Given the description of an element on the screen output the (x, y) to click on. 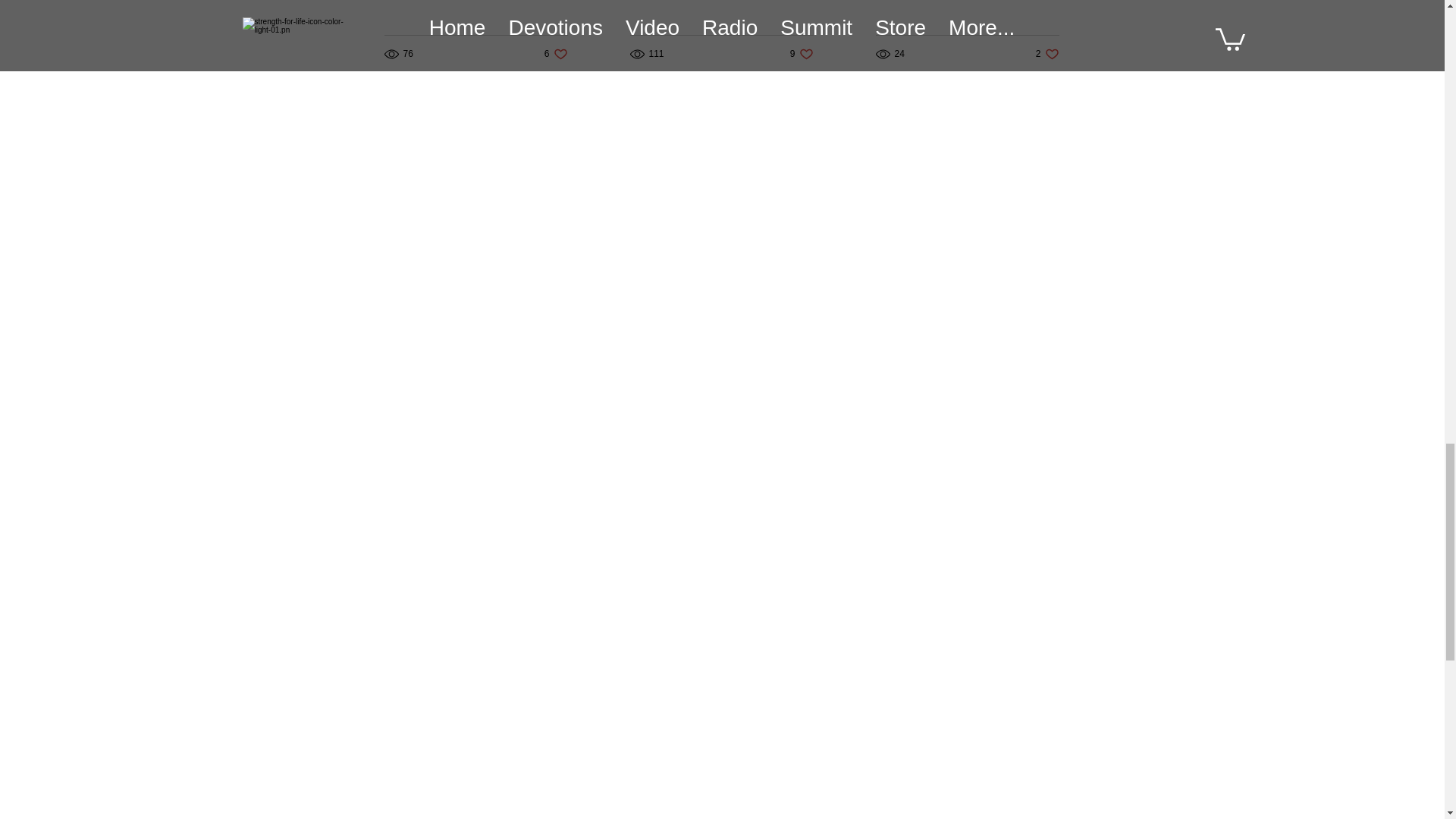
Almost Persuaded (555, 53)
